Given the description of an element on the screen output the (x, y) to click on. 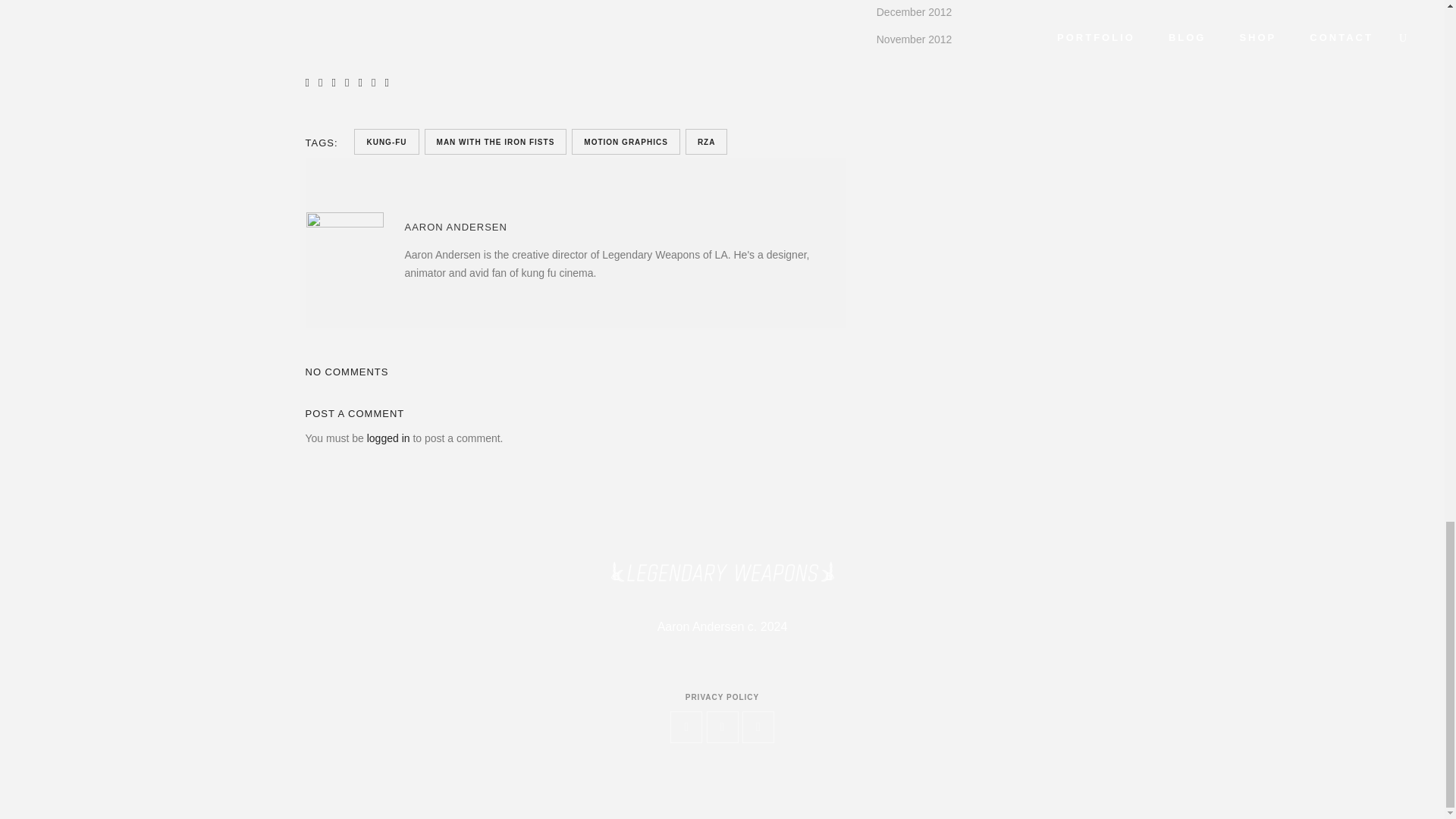
MOTION GRAPHICS (625, 141)
RZA (706, 141)
MAN WITH THE IRON FISTS (496, 141)
KUNG-FU (386, 141)
logged in (388, 438)
